Given the description of an element on the screen output the (x, y) to click on. 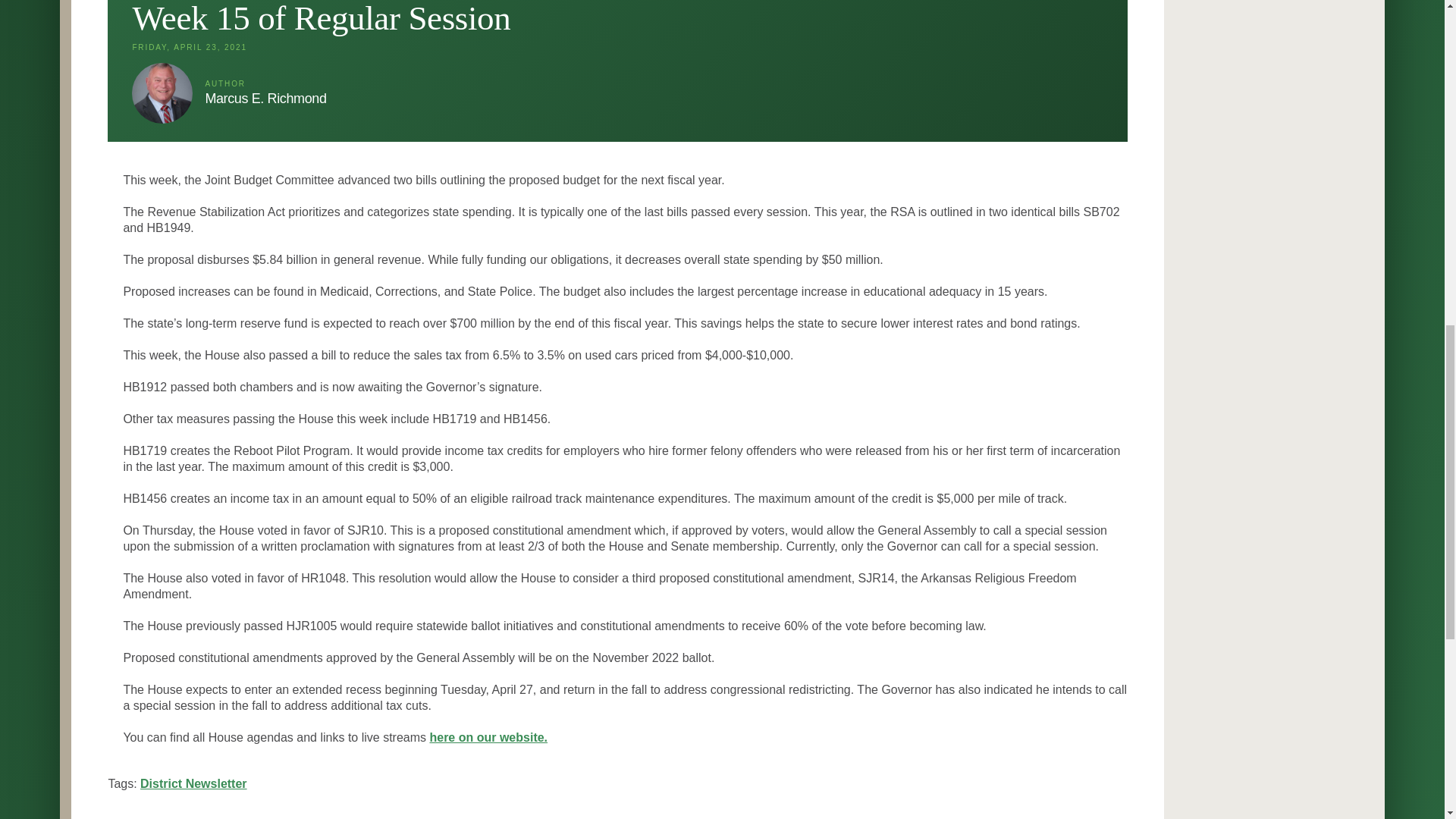
Marcus E. Richmond (265, 98)
District Newsletter (193, 783)
Marcus E. Richmond (265, 98)
here on our website. (488, 737)
Marcus E. Richmond (162, 93)
Marcus E. Richmond (162, 93)
